Given the description of an element on the screen output the (x, y) to click on. 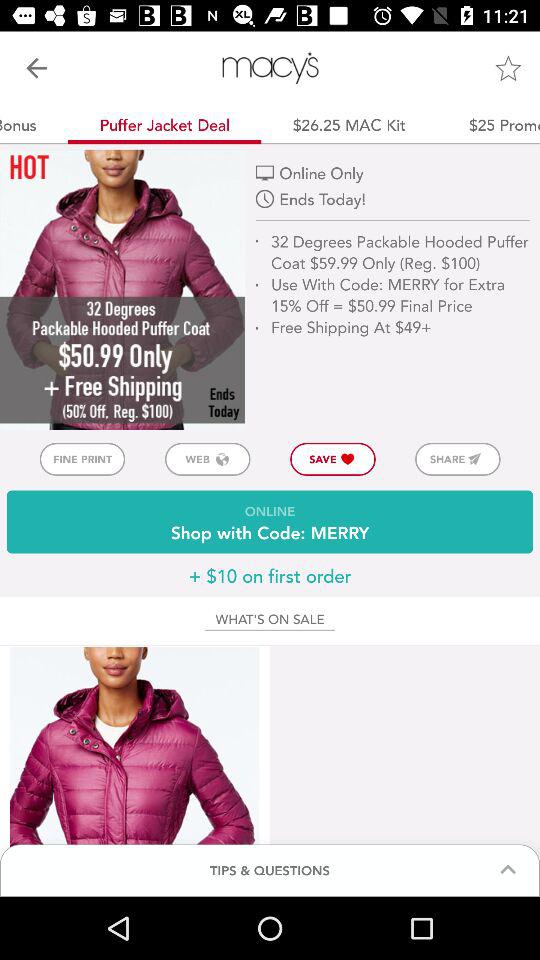
click item on the left (82, 458)
